Given the description of an element on the screen output the (x, y) to click on. 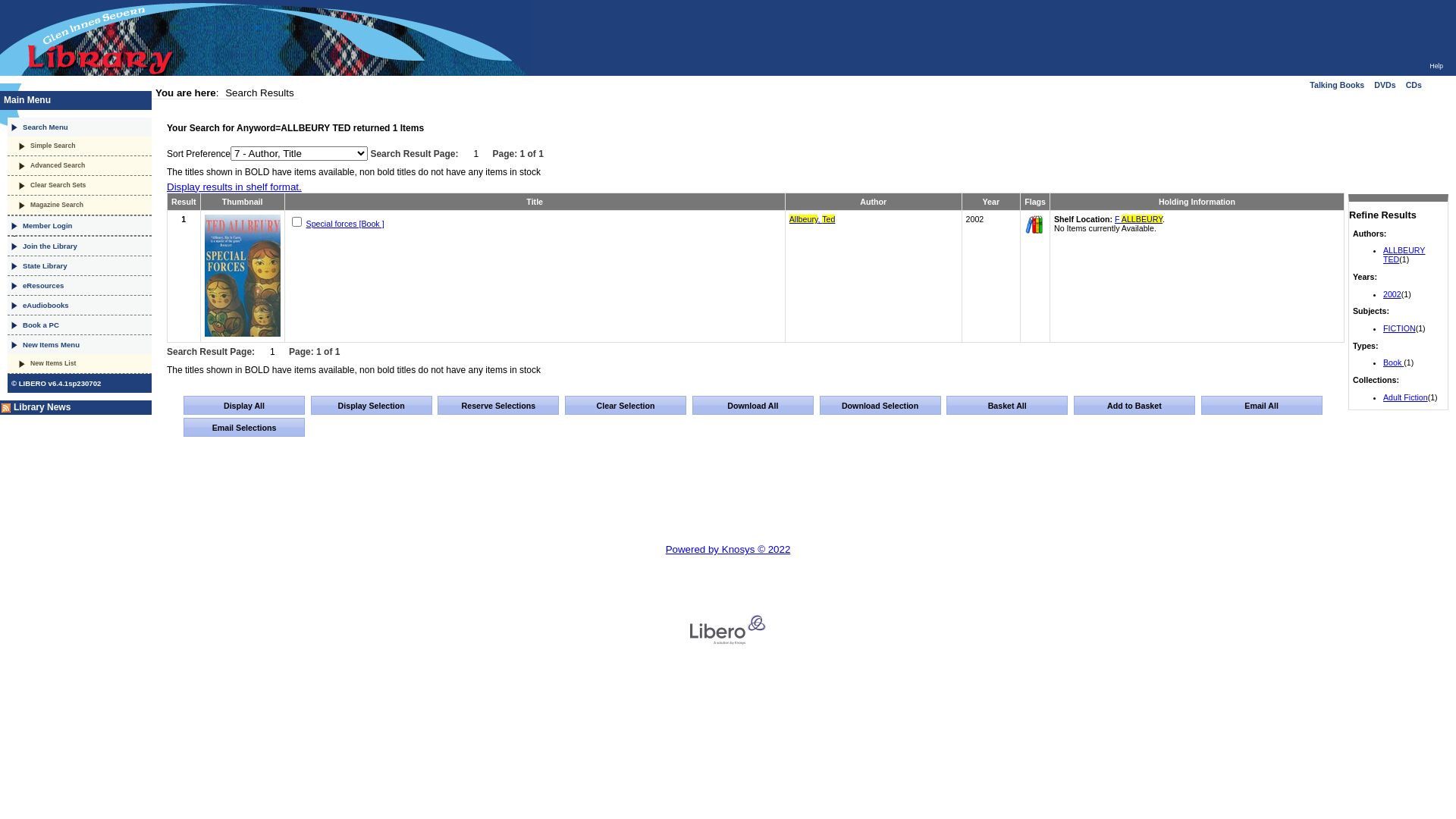
Special forces Element type: hover (242, 275)
Allbeury, Ted Element type: text (812, 218)
Clear Search Sets Element type: text (79, 185)
Book  Element type: hover (1034, 224)
F ALLBEURY Element type: text (1138, 218)
Email Selections Element type: text (243, 426)
Member Login Element type: text (79, 225)
New Items List Element type: text (79, 363)
Basket All Element type: text (1006, 404)
Display Selection Element type: text (371, 404)
Download All Element type: text (752, 404)
Special forces [Book ] Element type: text (345, 223)
Alt-2 Element type: hover (625, 404)
2002 Element type: text (1392, 293)
ALLBEURY TED Element type: text (1403, 254)
Simple Search Element type: text (79, 146)
State Library Element type: text (79, 266)
Glen Innes Severn Public and TAFE Library Element type: hover (265, 40)
Help Element type: text (1435, 65)
DVDs Element type: text (1384, 84)
eResources Element type: text (79, 285)
Display results in shelf format. Element type: text (233, 186)
Advanced Search Element type: text (79, 165)
Reserve Selections Element type: text (497, 404)
Add to Basket Element type: text (1134, 404)
FICTION Element type: text (1399, 327)
Email All Element type: text (1261, 404)
Talking Books Element type: text (1336, 84)
eAudiobooks Element type: text (79, 305)
Display All Element type: text (243, 404)
Download Selection Element type: text (880, 404)
Magazine Search Element type: text (79, 205)
CDs Element type: text (1413, 84)
Adult Fiction Element type: text (1405, 396)
Alt-1 Element type: hover (371, 404)
Book a PC Element type: text (79, 325)
Join the Library Element type: text (79, 246)
Book Element type: text (1393, 362)
